Given the description of an element on the screen output the (x, y) to click on. 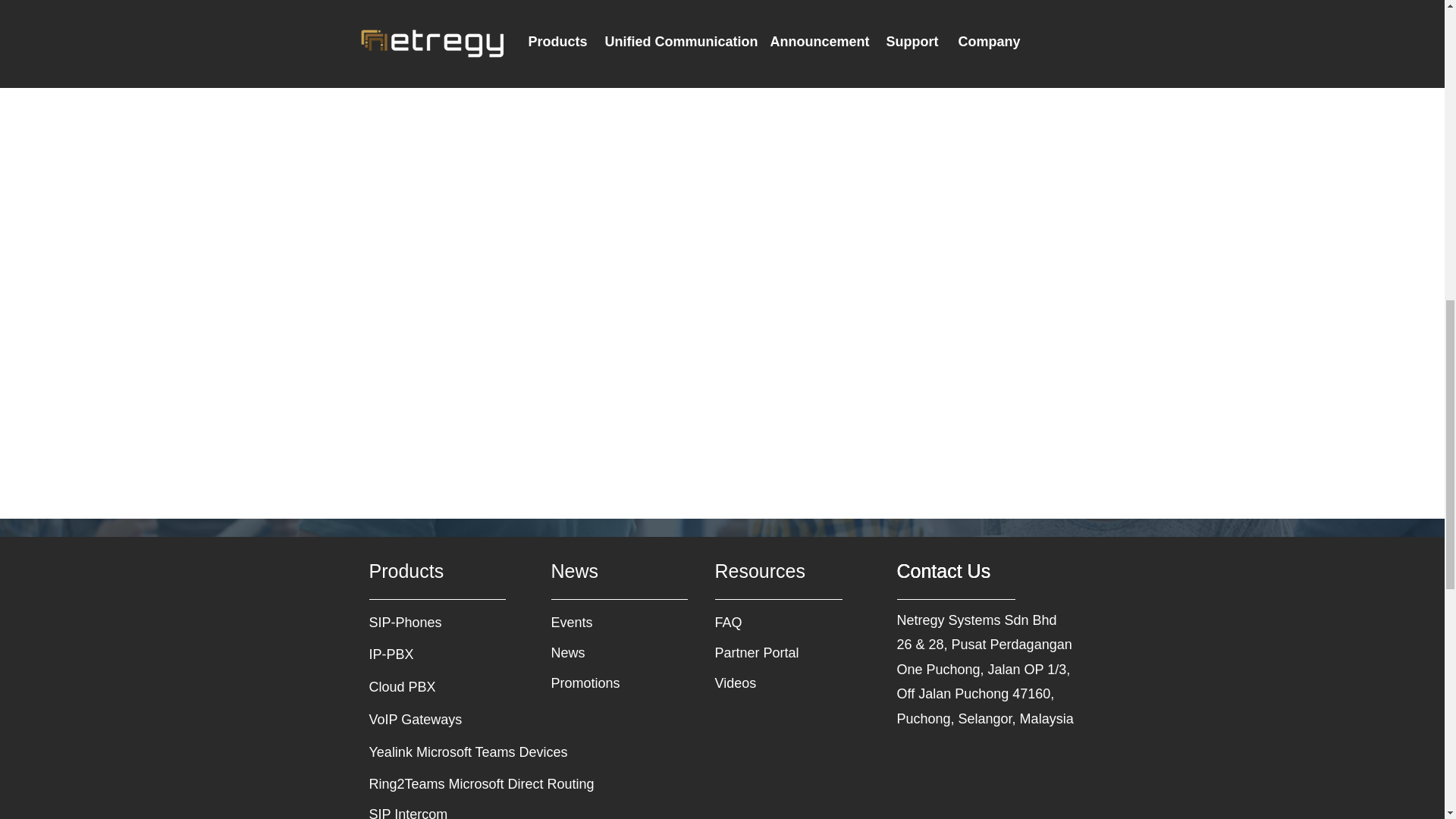
Cloud PBX (422, 687)
IP-PBX (422, 654)
Ring2Teams Microsoft Direct Routing (483, 784)
Yealink Microsoft Teams Devices (484, 752)
SIP-Phones (422, 623)
SIP Intercom (445, 809)
VoIP Gateways (422, 720)
News (604, 653)
Promotions (604, 684)
Events (604, 623)
